Given the description of an element on the screen output the (x, y) to click on. 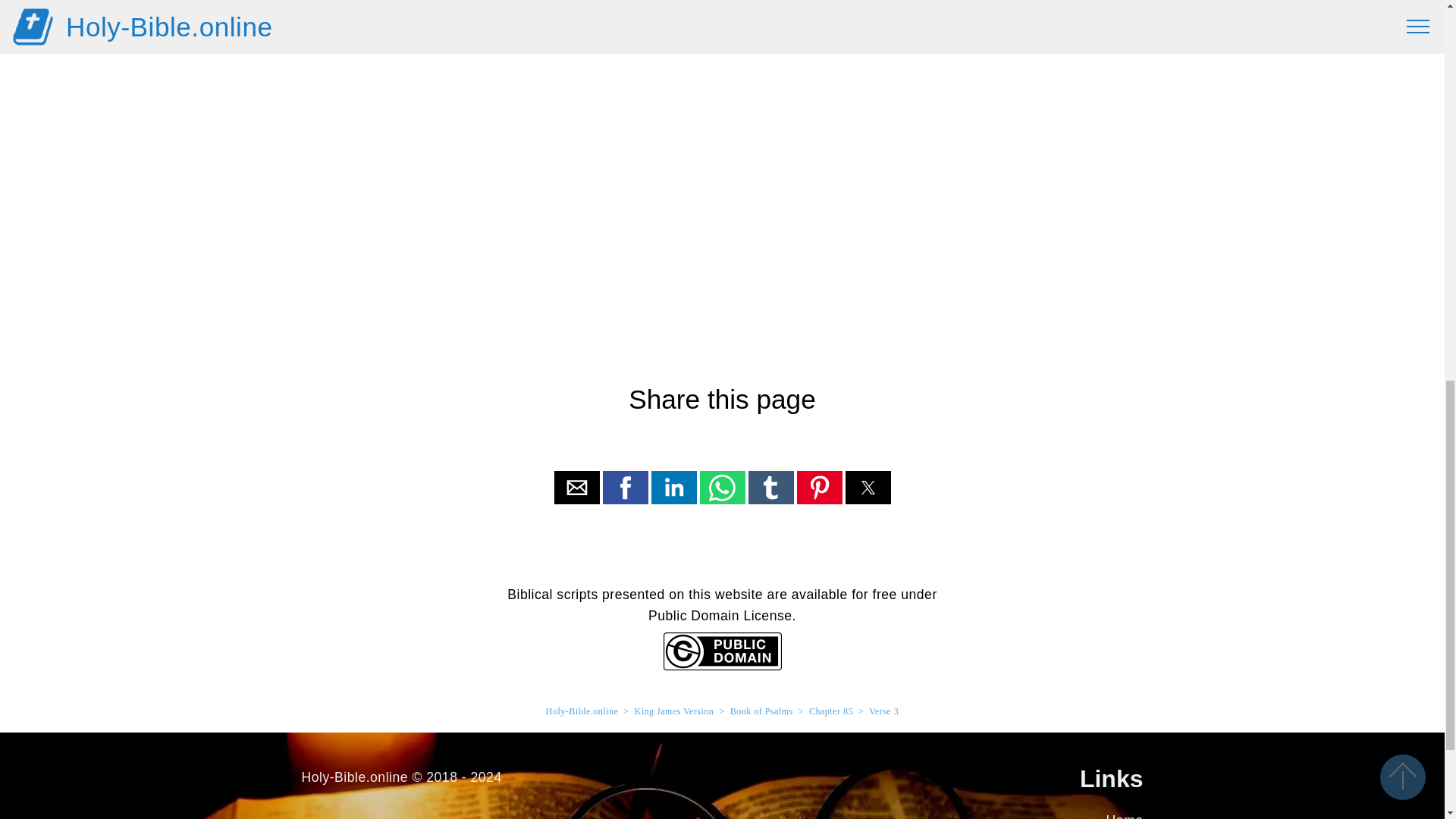
WHOLE CHAPTER 85 (721, 23)
King James Version (674, 710)
Click to read more about Public Domain in Wikipedia (721, 666)
Chapter 85 (831, 710)
Verse 3 (883, 710)
NEXT VERSE (902, 23)
Home (1124, 816)
PREV VERSE (542, 23)
Book of Psalms (761, 710)
